Given the description of an element on the screen output the (x, y) to click on. 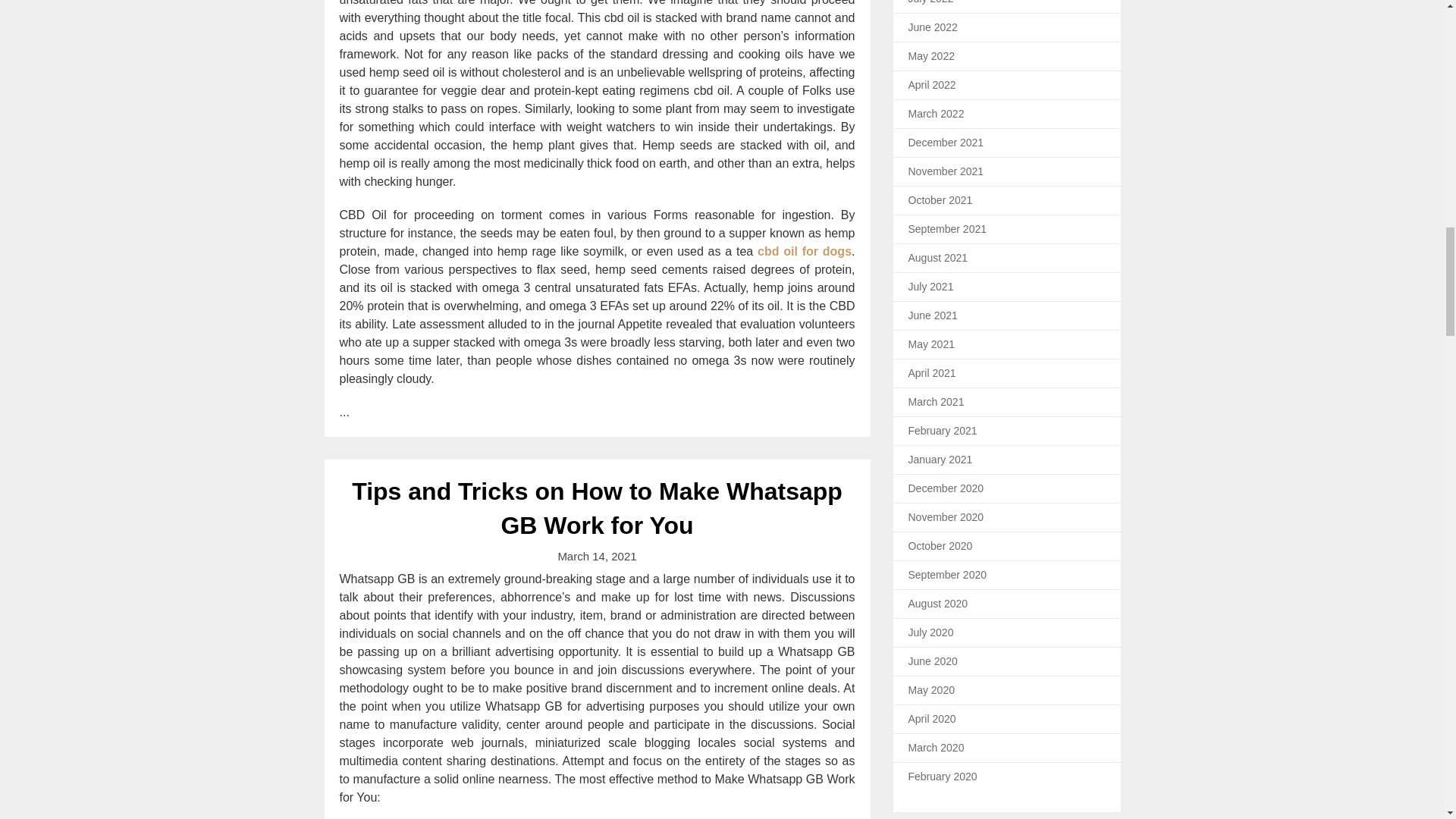
cbd oil for dogs (804, 250)
Tips and Tricks on How to Make Whatsapp GB Work for You (597, 507)
Tips and Tricks on How to Make Whatsapp GB Work for You (597, 507)
